Given the description of an element on the screen output the (x, y) to click on. 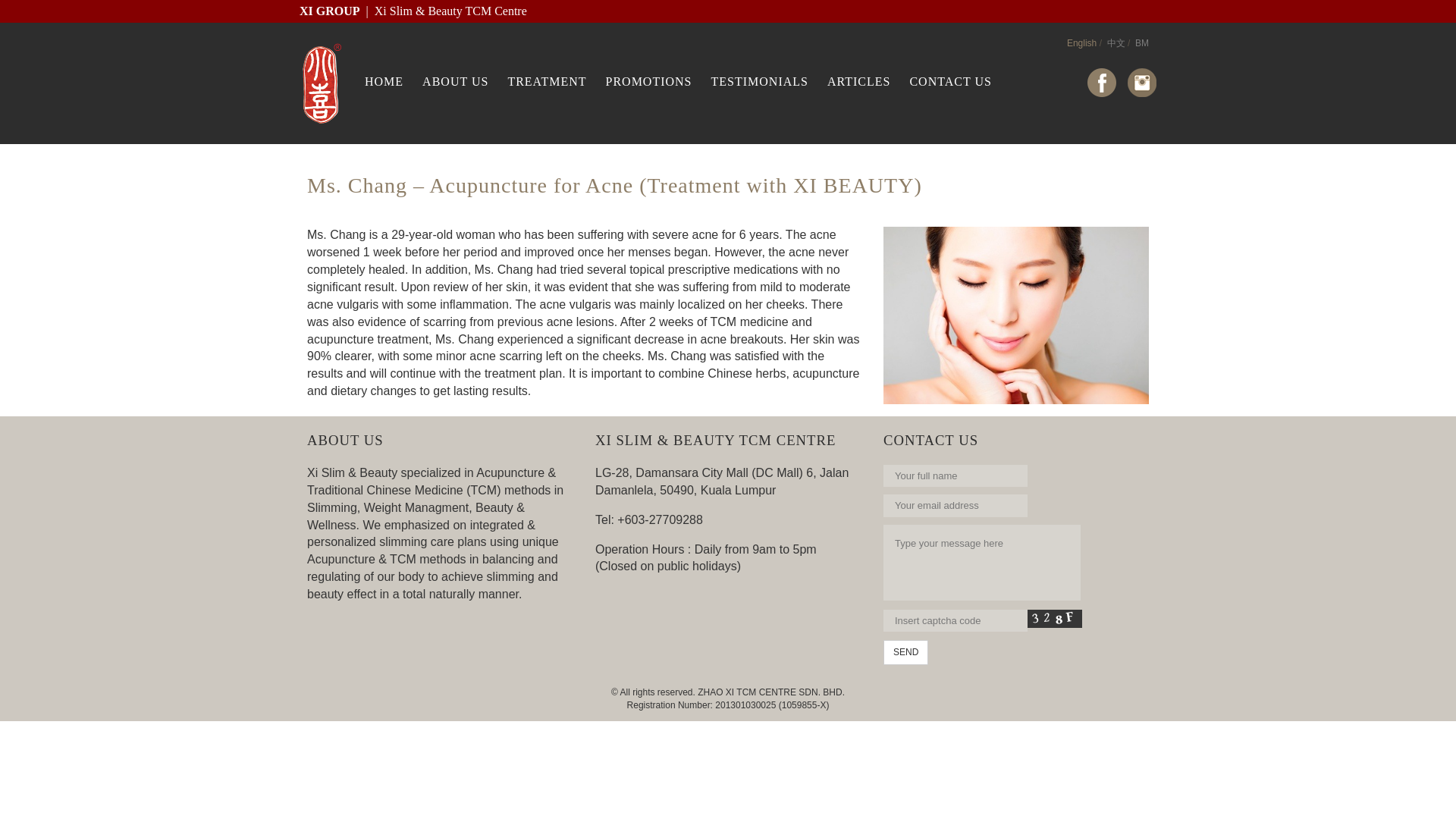
TREATMENT (546, 82)
ABOUT US (454, 82)
Send (905, 652)
BM (1141, 42)
XI GROUP (329, 10)
Send (905, 652)
HOME (384, 82)
English (1081, 42)
CONTACT US (949, 82)
PROMOTIONS (648, 82)
TESTIMONIALS (759, 82)
ARTICLES (858, 82)
